Given the description of an element on the screen output the (x, y) to click on. 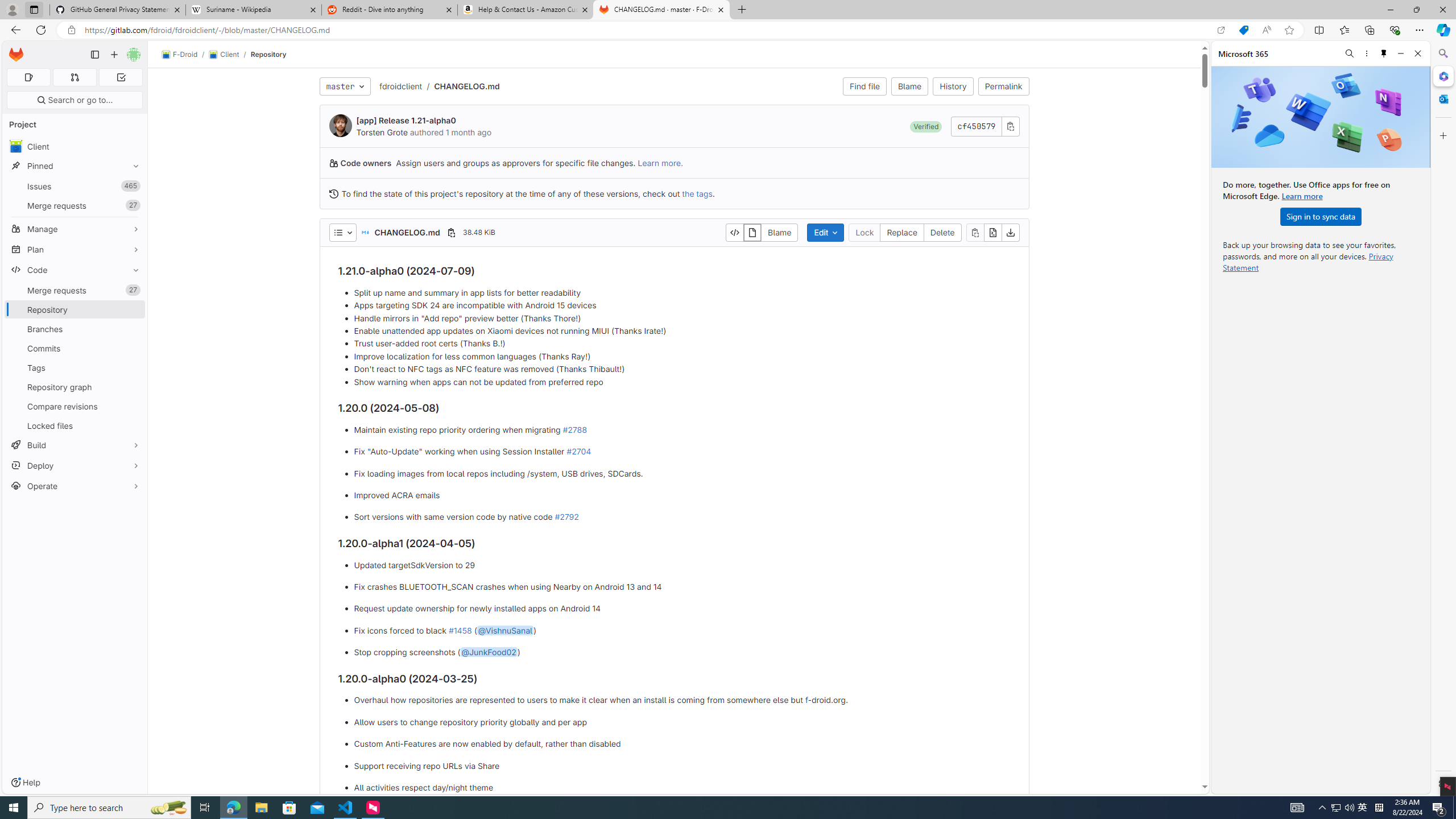
Build (74, 444)
Display source (734, 232)
Copy commit SHA (1010, 126)
Pin Branches (132, 328)
Handle mirrors in "Add repo" preview better (Thanks Thore!) (681, 318)
Pin Locked files (132, 425)
